Given the description of an element on the screen output the (x, y) to click on. 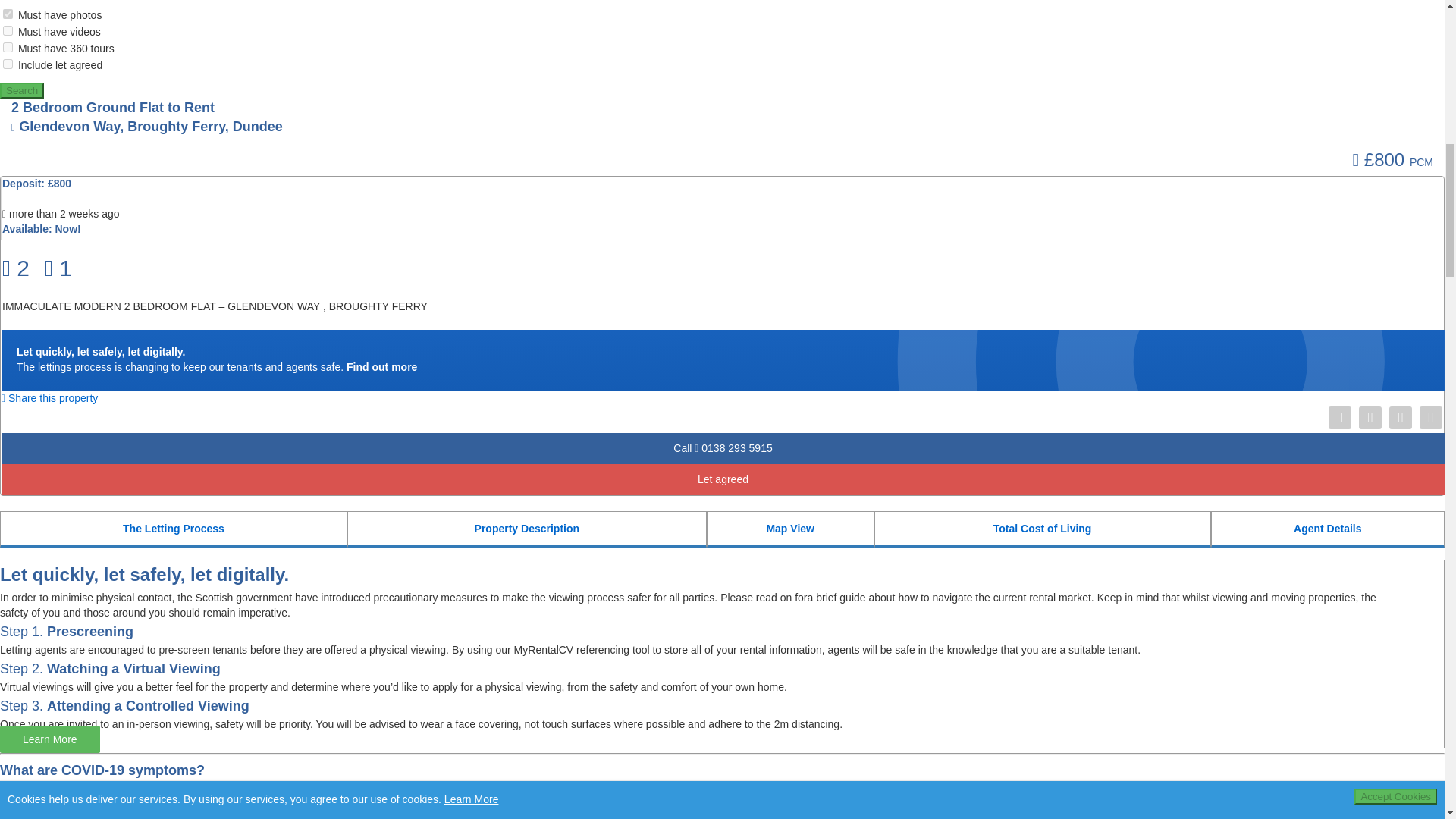
1 (58, 268)
true (7, 47)
true (7, 63)
Map View (790, 528)
true (7, 30)
Search (21, 90)
Property Description (526, 528)
true (7, 13)
Find out more (381, 367)
The Letting Process (173, 528)
2 (15, 268)
